Given the description of an element on the screen output the (x, y) to click on. 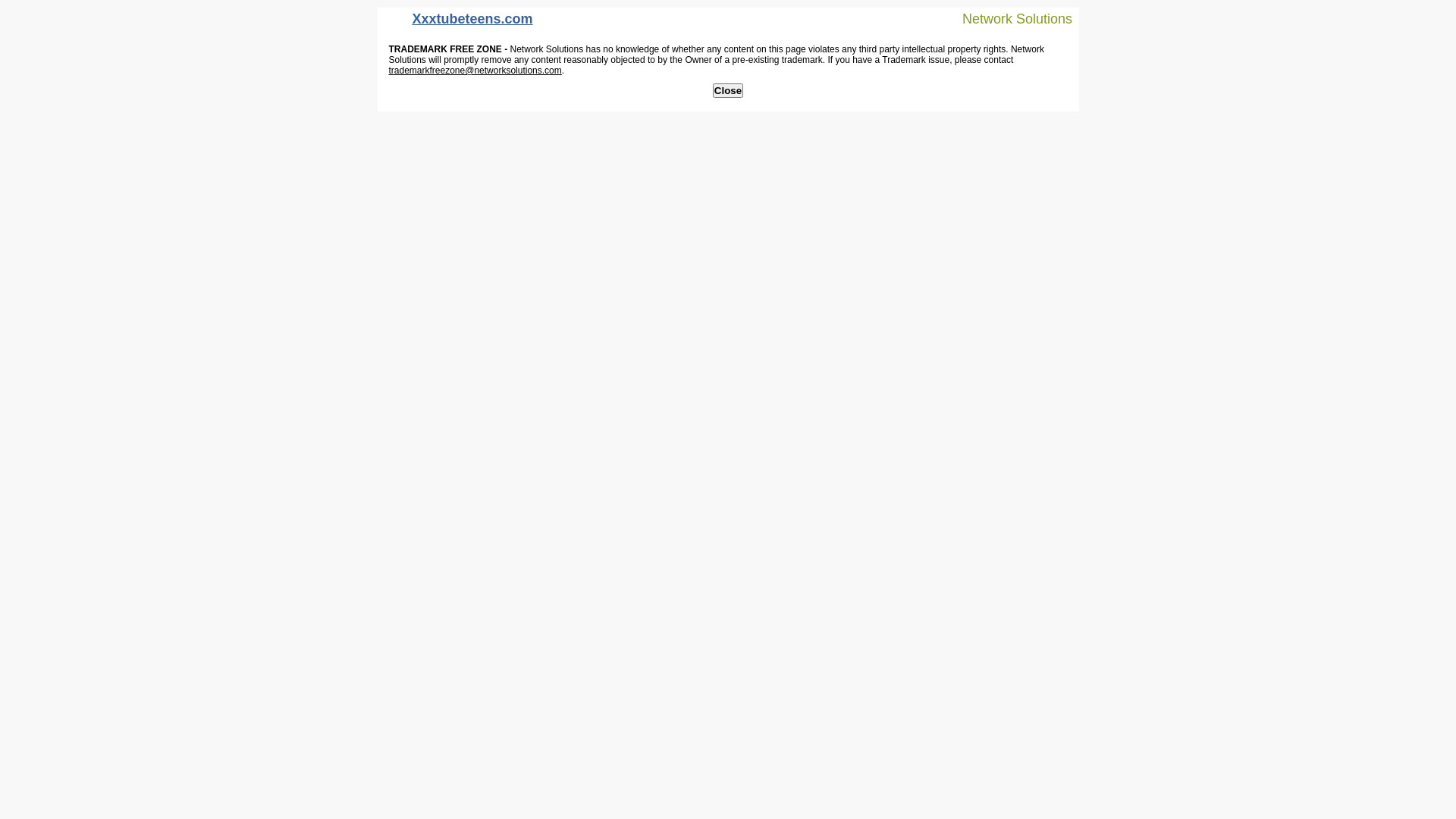
Close Element type: text (727, 90)
Network Solutions Element type: text (1007, 17)
Xxxtubeteens.com Element type: text (459, 21)
trademarkfreezone@networksolutions.com Element type: text (474, 70)
